Given the description of an element on the screen output the (x, y) to click on. 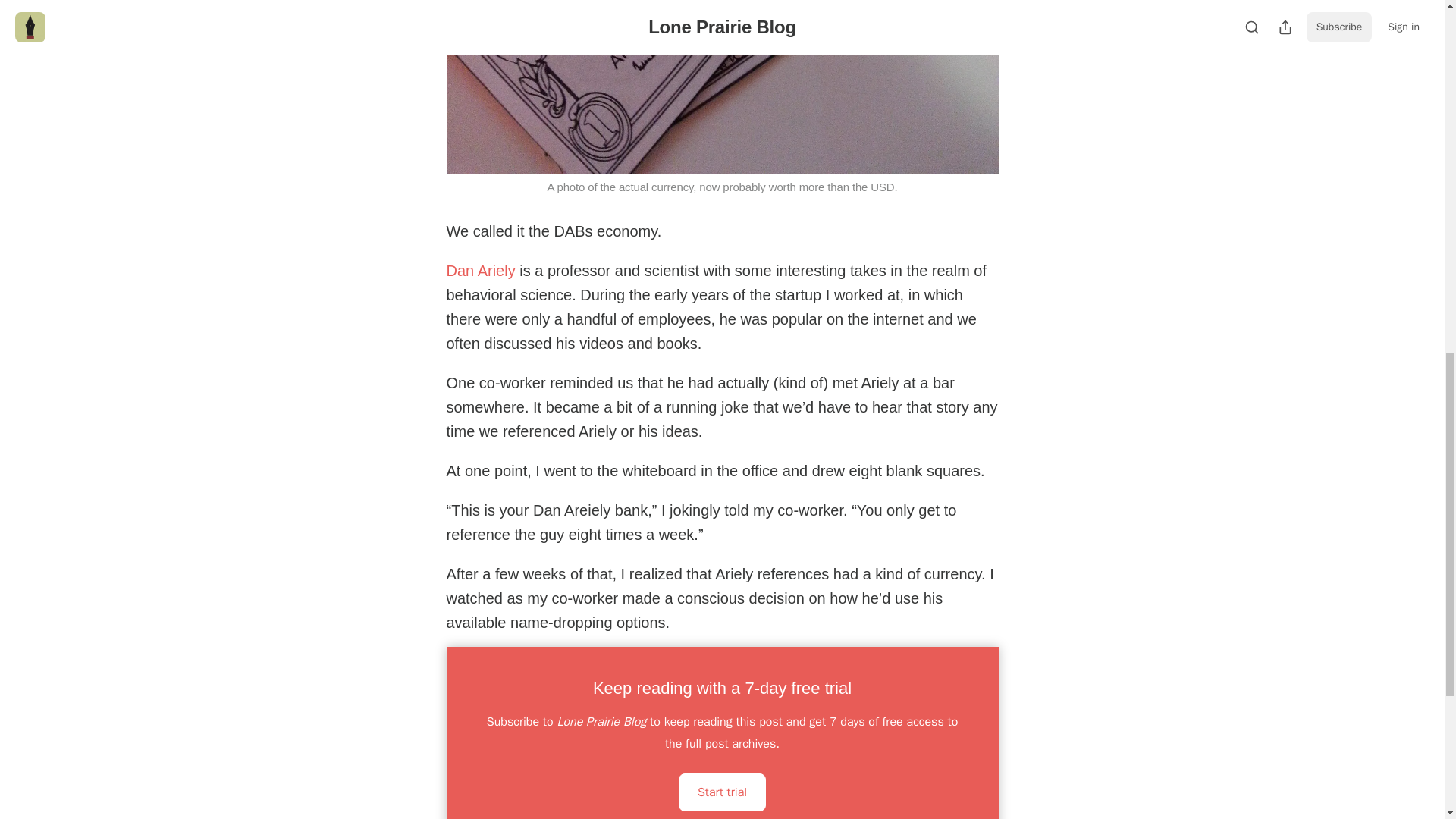
Start trial (721, 790)
Dan Ariely (480, 270)
Start trial (721, 792)
